Given the description of an element on the screen output the (x, y) to click on. 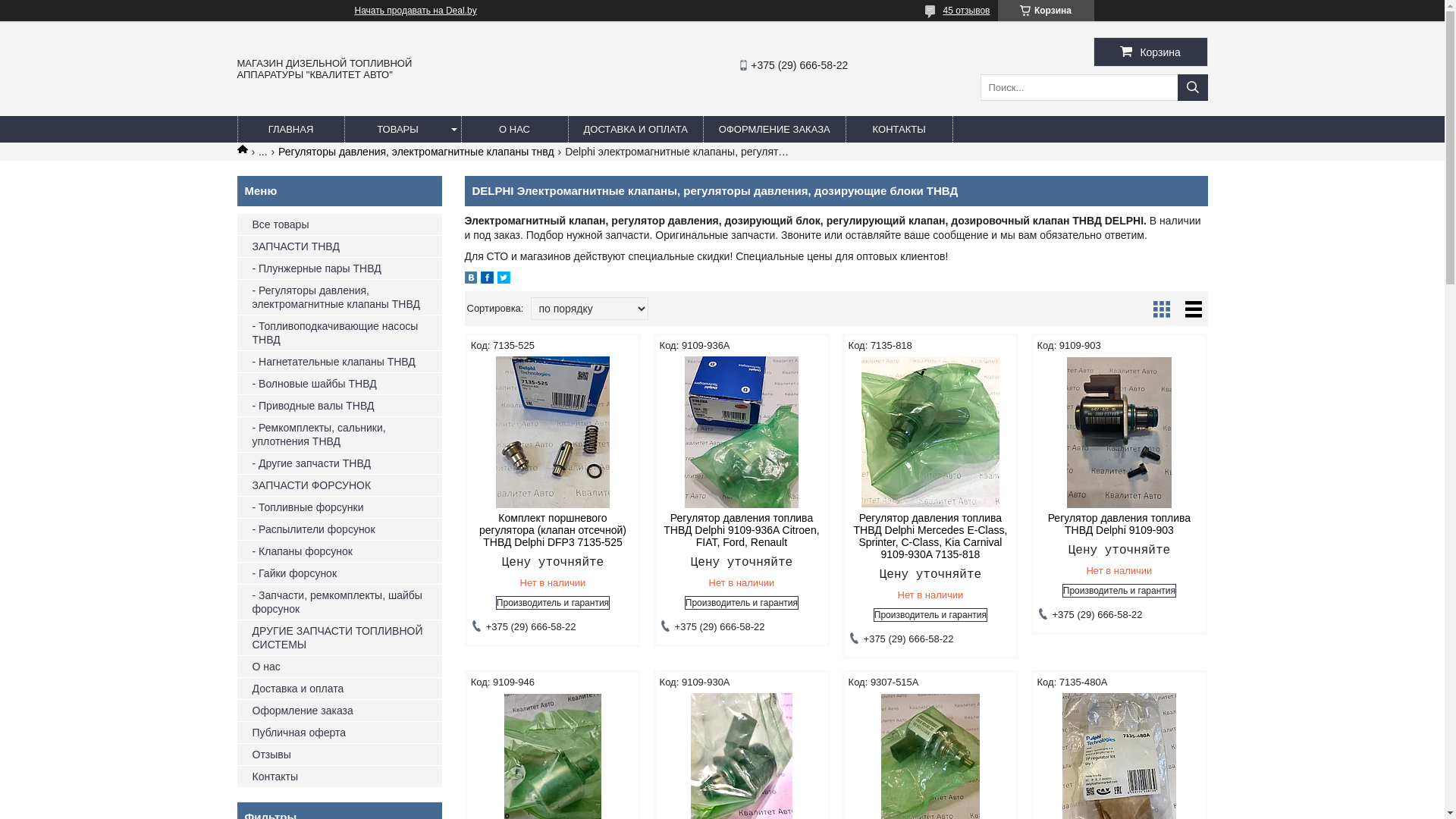
facebook Element type: hover (486, 279)
twitter Element type: hover (503, 279)
